Given the description of an element on the screen output the (x, y) to click on. 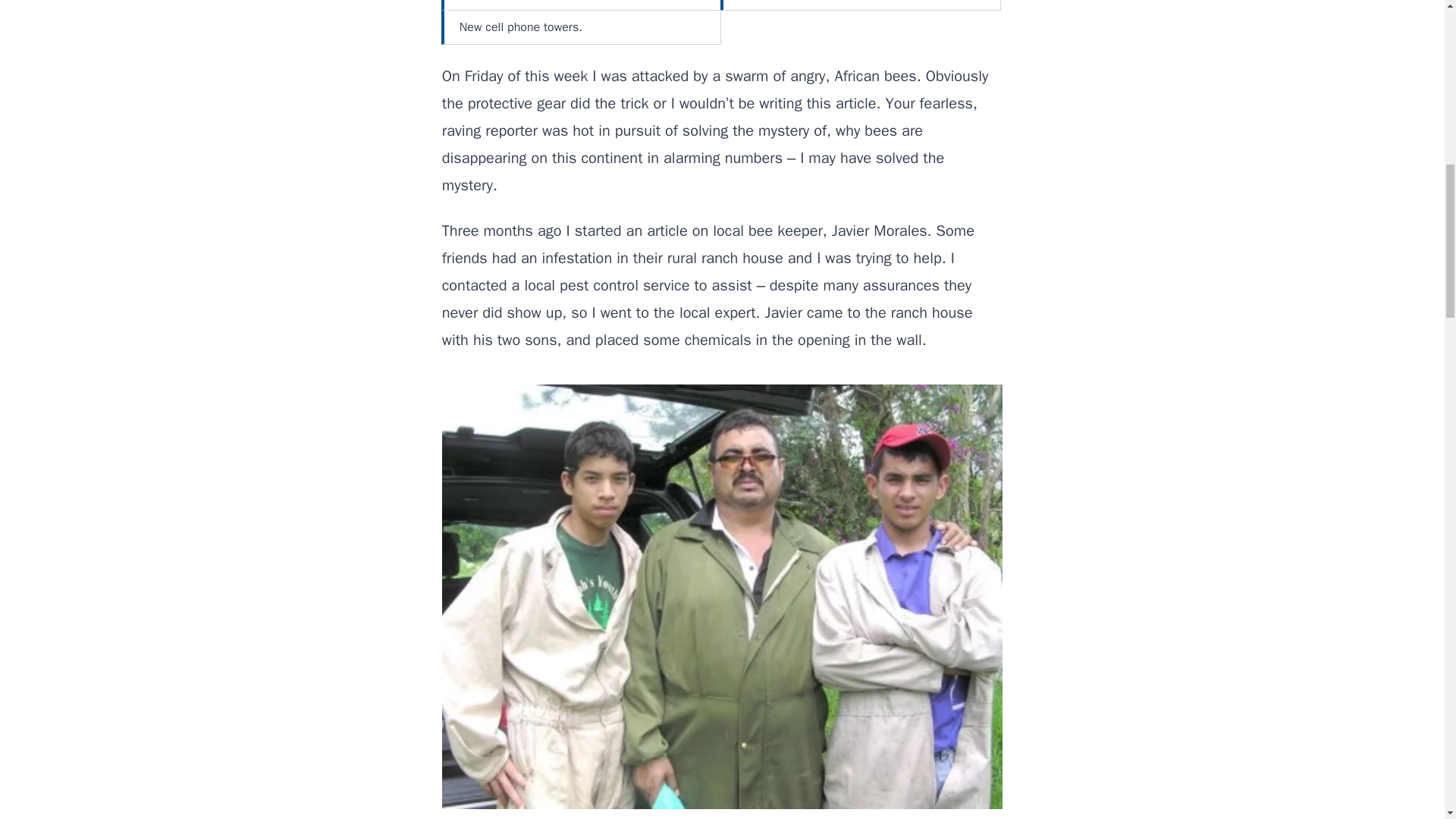
The cell phone experiment. (861, 4)
New cell phone towers. (582, 27)
Major problem in the US (582, 4)
